Given the description of an element on the screen output the (x, y) to click on. 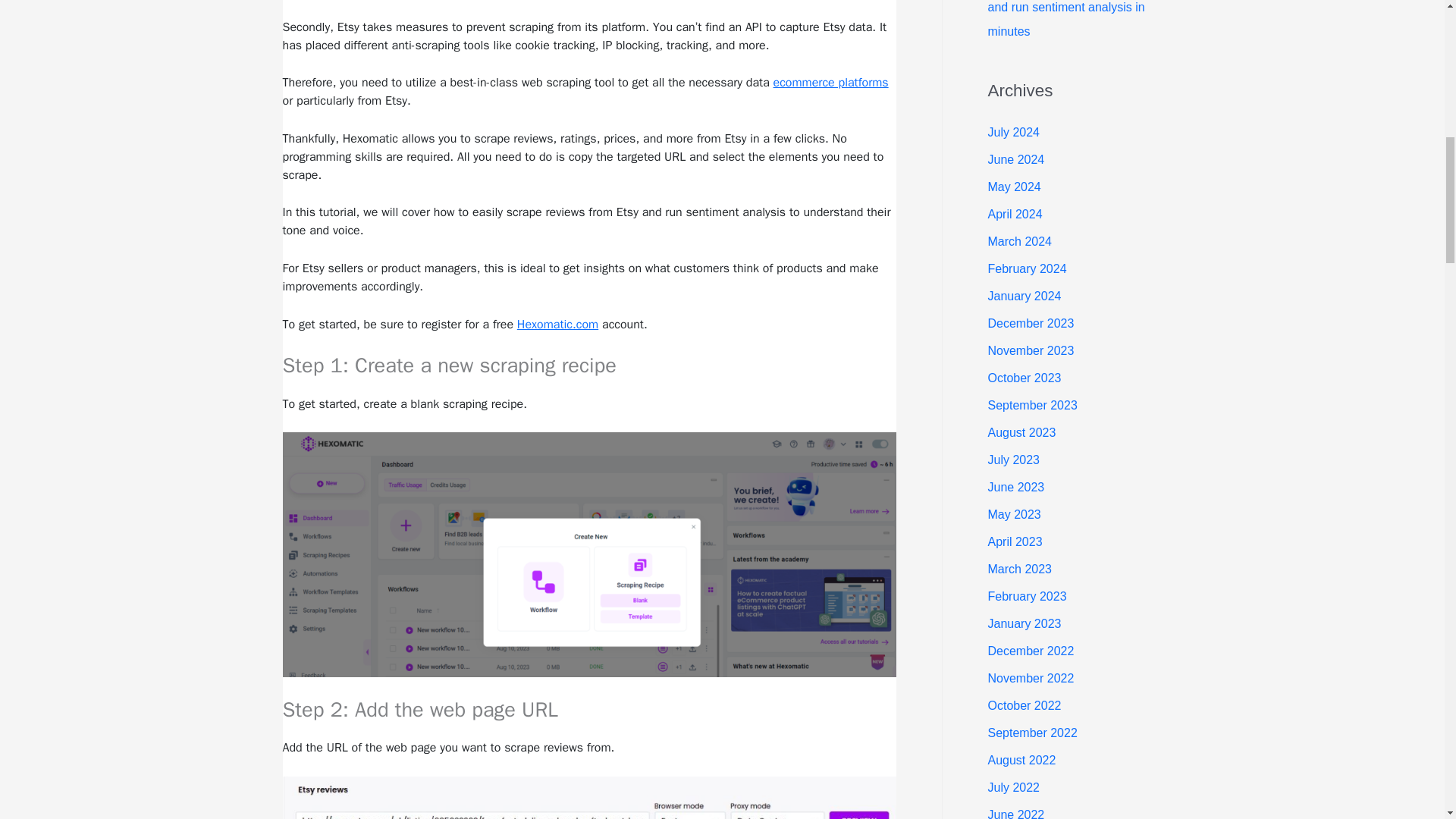
July 2024 (1013, 132)
ecommerce platforms (830, 82)
Hexomatic.com (557, 324)
